Given the description of an element on the screen output the (x, y) to click on. 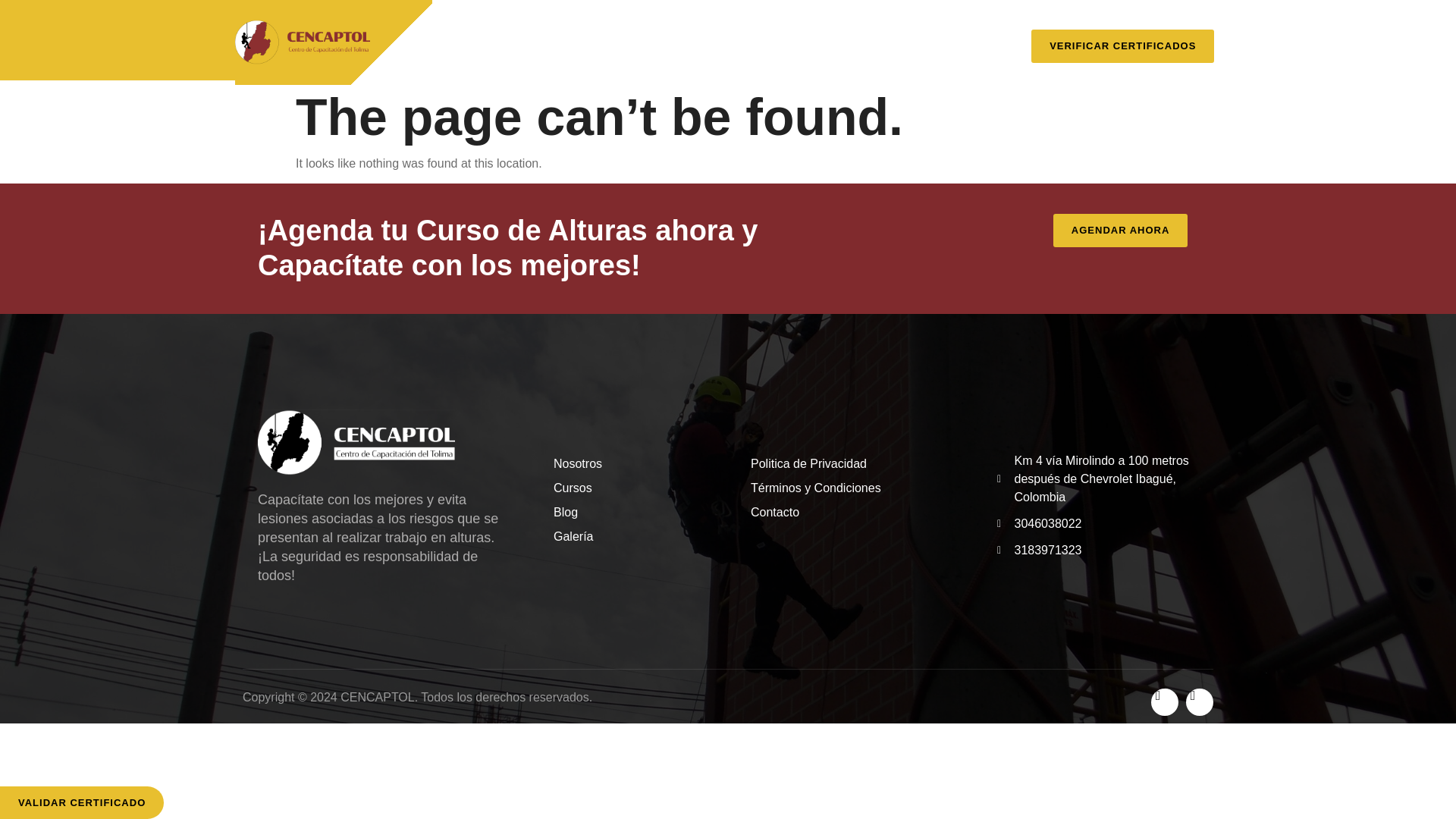
CONTACTO (738, 67)
AGENDAR AHORA (1125, 230)
Politica de Privacidad (851, 463)
Contacto (851, 512)
Nosotros (628, 463)
BLOG (875, 32)
Cursos (628, 487)
INICIO (481, 32)
NOSOTROS (570, 32)
AGENDAR AHORA (1120, 230)
